Given the description of an element on the screen output the (x, y) to click on. 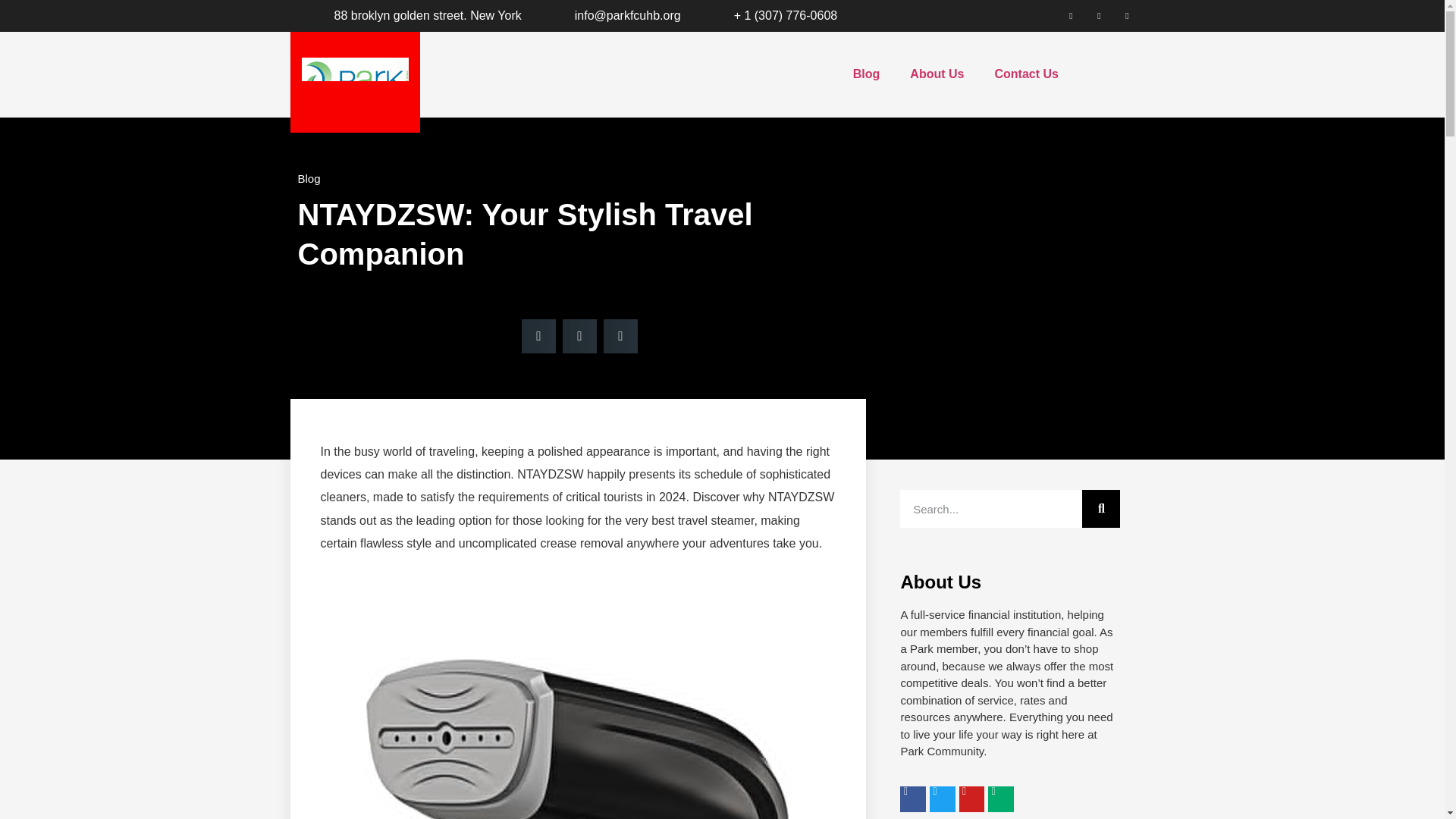
Contact Us (1025, 73)
Search (1100, 508)
Search (990, 508)
Blog (308, 178)
About Us (936, 73)
Blog (866, 73)
